Given the description of an element on the screen output the (x, y) to click on. 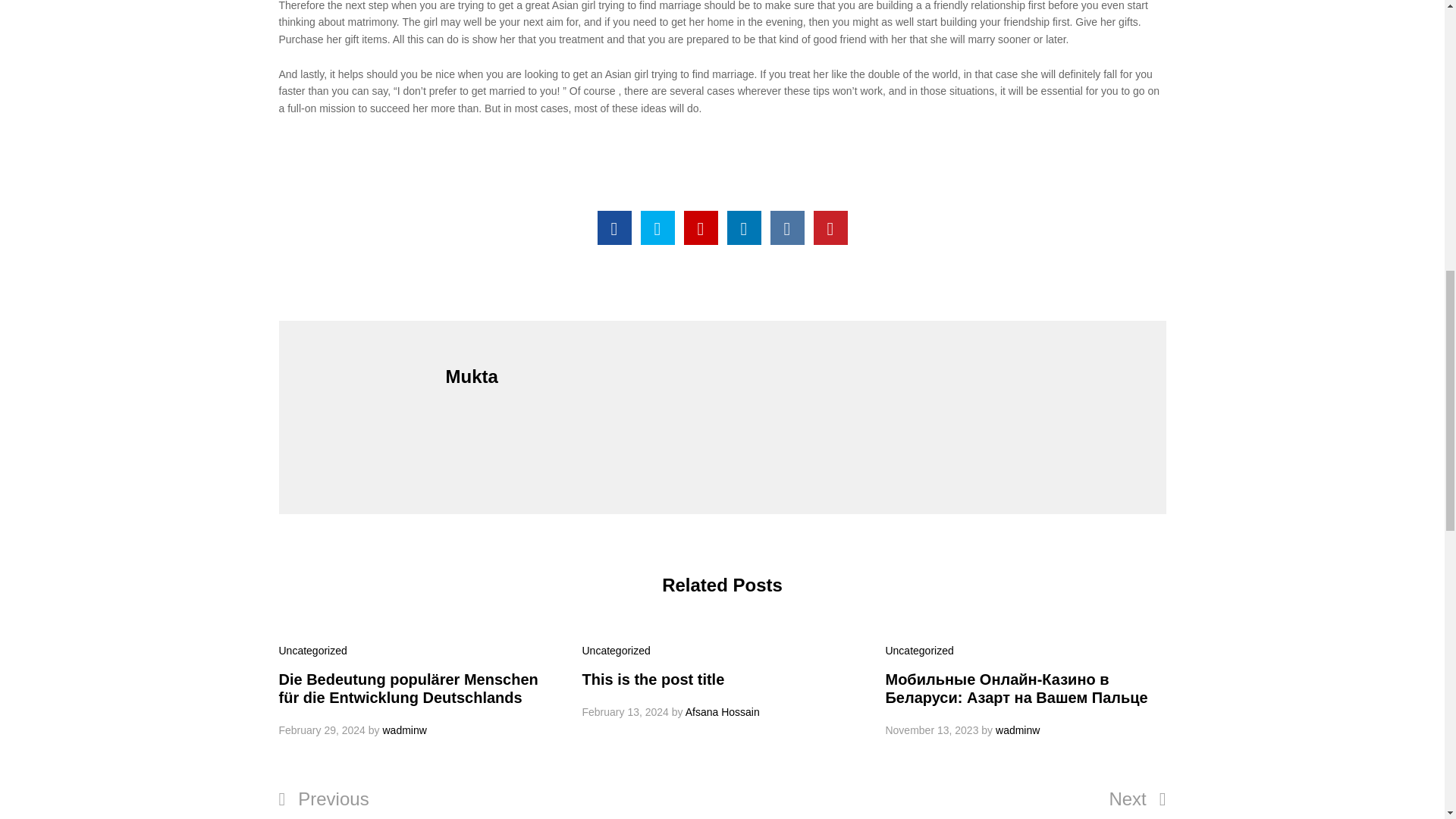
Uncategorized (614, 650)
Uncategorized (313, 650)
Uncategorized (919, 650)
November 13, 2023 (931, 729)
This is the post title (651, 678)
February 13, 2024 (624, 711)
wadminw (1017, 729)
Afsana Hossain (722, 711)
wadminw (403, 729)
February 29, 2024 (322, 729)
